Given the description of an element on the screen output the (x, y) to click on. 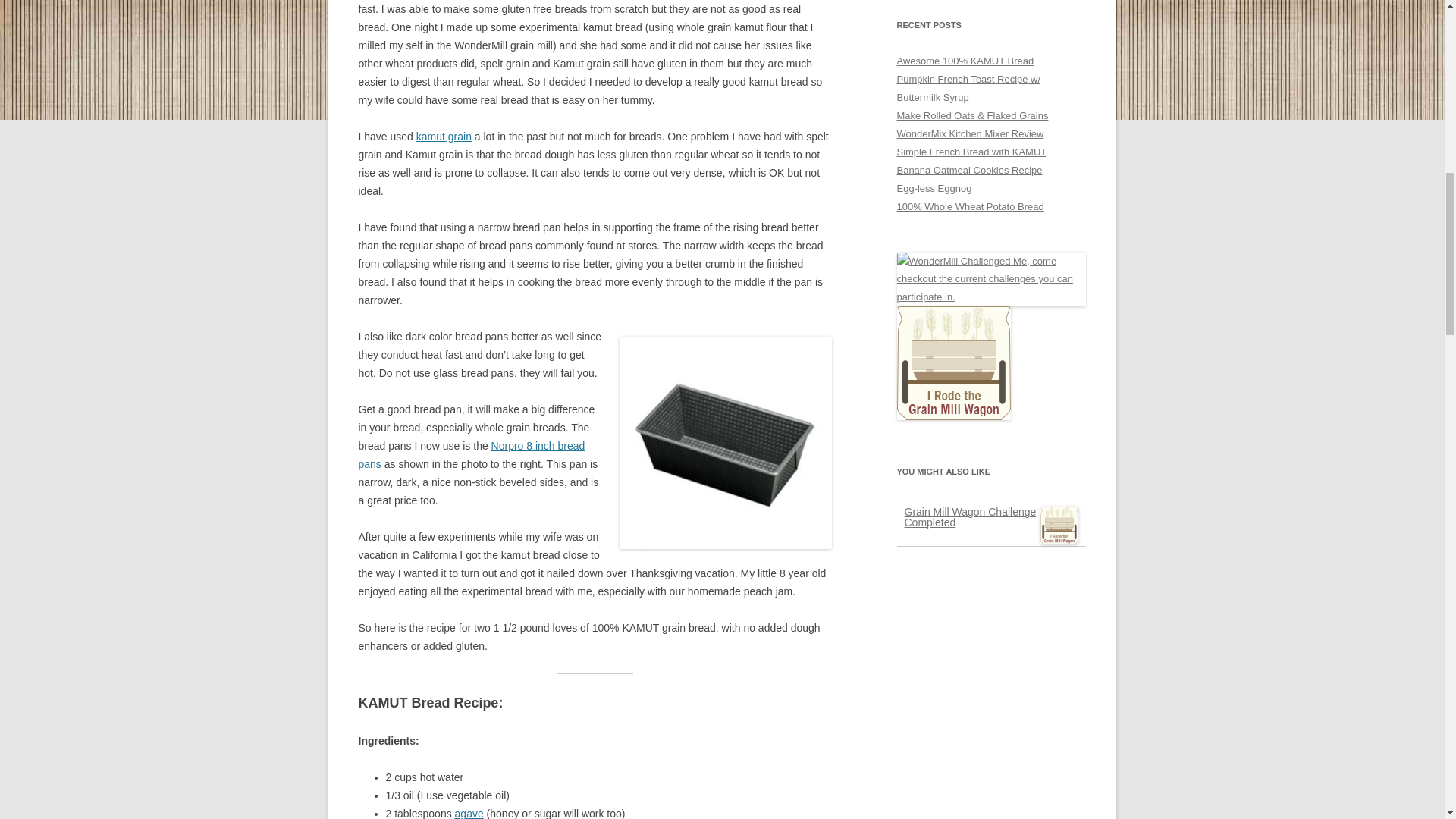
agave (468, 813)
February 14, 2013 (969, 517)
Norpro 8 inch bread pans (471, 454)
kamut grain (443, 136)
